Given the description of an element on the screen output the (x, y) to click on. 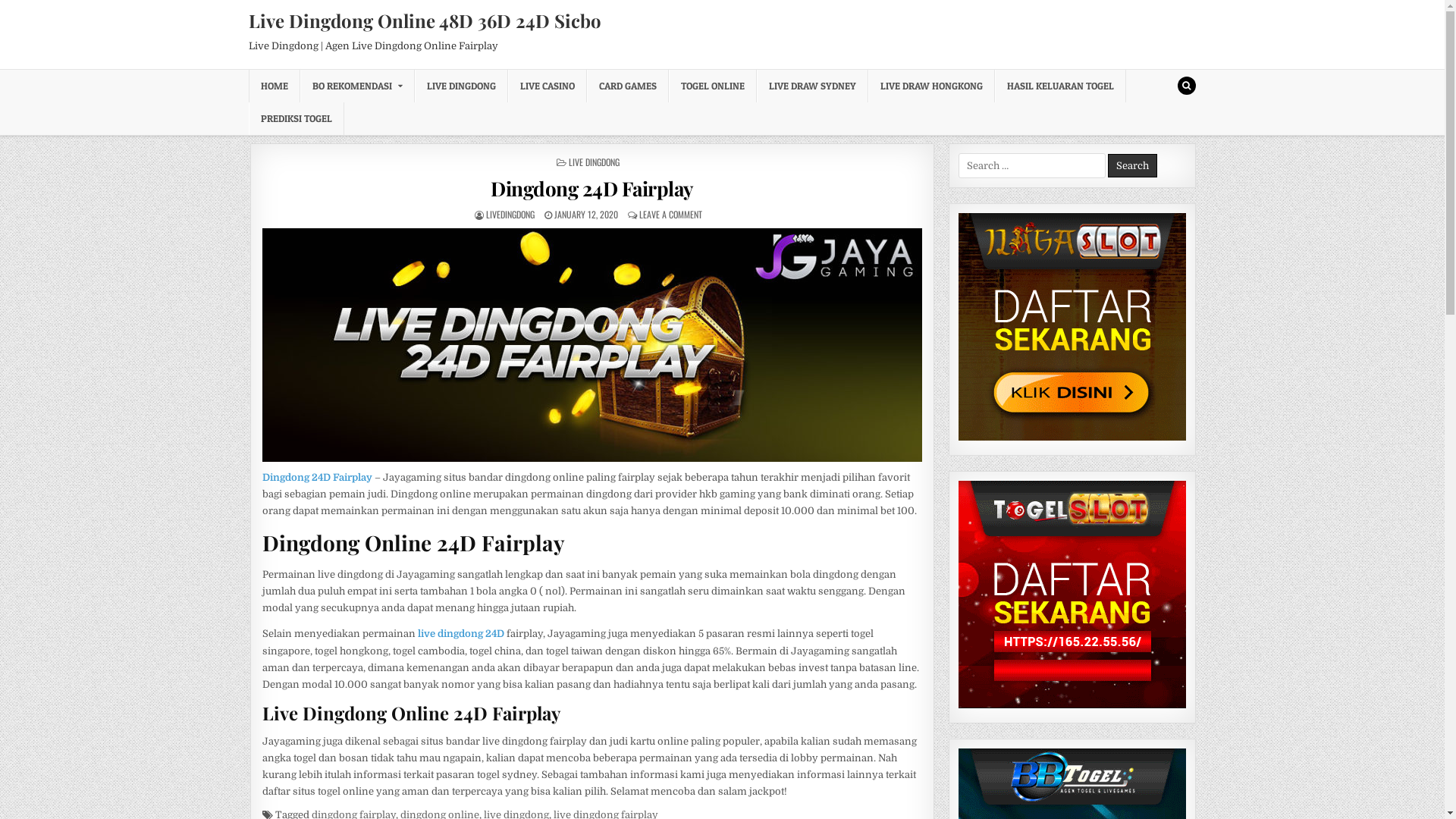
BO REKOMENDASI Element type: text (357, 85)
Search Element type: hover (1185, 85)
LIVE DRAW HONGKONG Element type: text (930, 85)
Search Element type: text (1132, 165)
AUTHOR:
LIVEDINGDONG Element type: text (510, 213)
TOGEL ONLINE Element type: text (712, 85)
HASIL KELUARAN TOGEL Element type: text (1060, 85)
LIVE DINGDONG Element type: text (593, 161)
Permanent Link to Dingdong 24D Fairplay Element type: hover (592, 344)
live dingdong 24D Element type: text (460, 633)
PREDIKSI TOGEL Element type: text (296, 118)
Live Dingdong Online 48D 36D 24D Sicbo Element type: text (424, 20)
CARD GAMES Element type: text (627, 85)
Dingdong 24D Fairplay Element type: text (317, 477)
Dingdong 24D Fairplay Element type: text (591, 188)
LIVE DRAW SYDNEY Element type: text (812, 85)
LEAVE A COMMENT
ON DINGDONG 24D FAIRPLAY Element type: text (670, 213)
LIVE DINGDONG Element type: text (460, 85)
LIVE CASINO Element type: text (547, 85)
HOME Element type: text (274, 85)
